Given the description of an element on the screen output the (x, y) to click on. 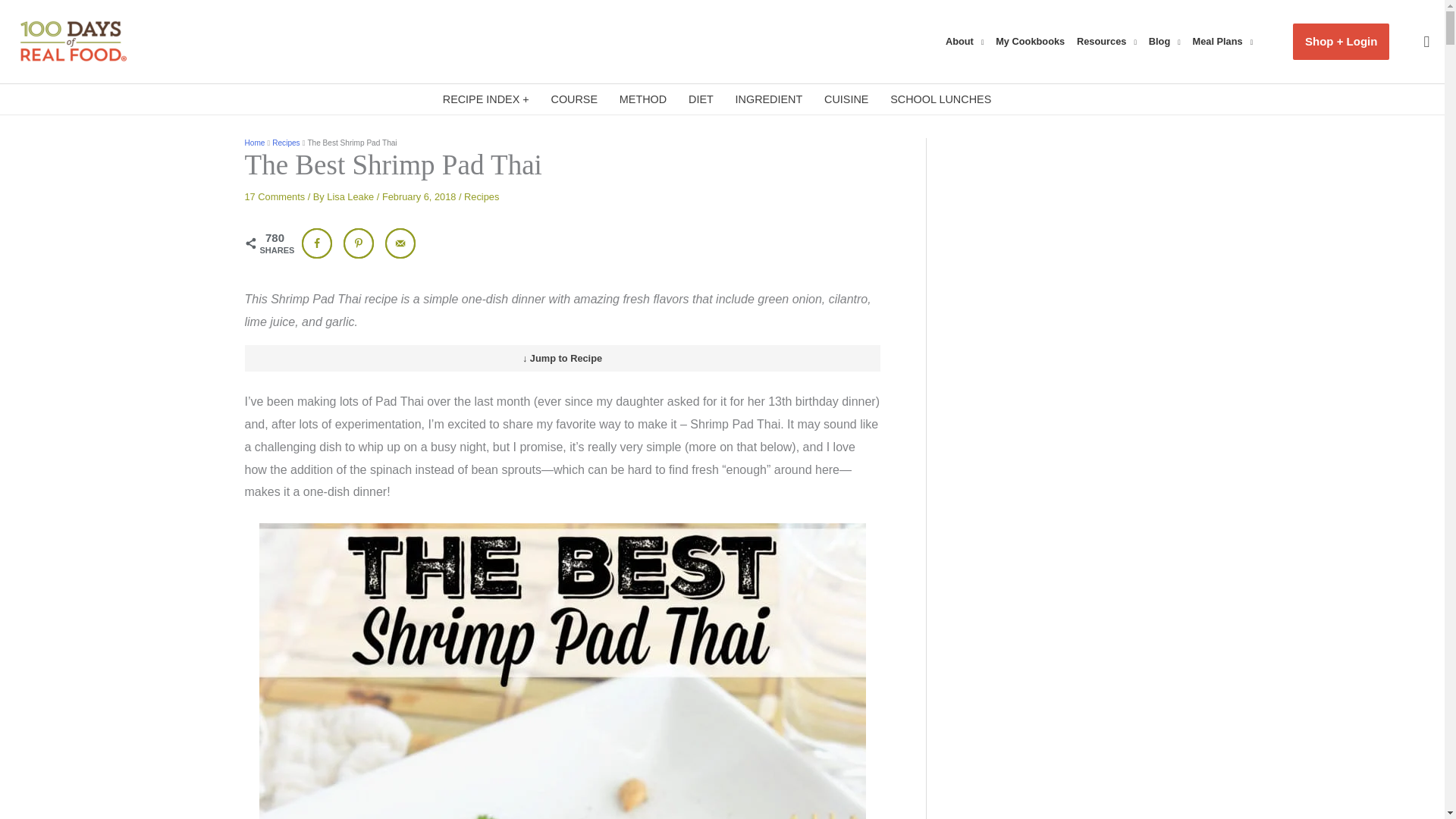
Share on Facebook (316, 243)
About (967, 41)
Save to Pinterest (358, 243)
My Cookbooks (1033, 41)
Resources (1110, 41)
Send over email (399, 243)
View all posts by Lisa Leake (350, 196)
Meal Plans (1226, 41)
